Given the description of an element on the screen output the (x, y) to click on. 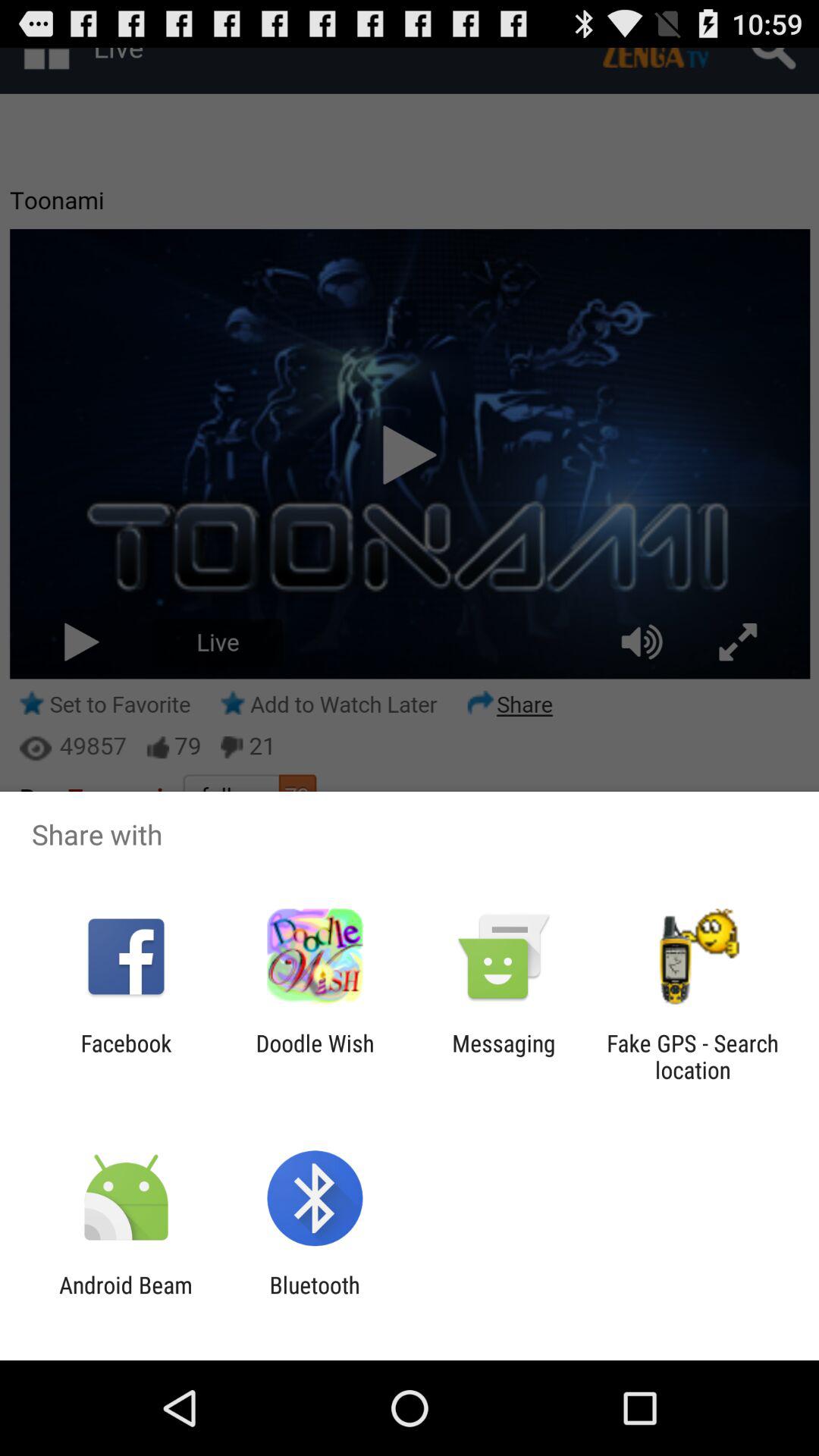
scroll to facebook (125, 1056)
